Given the description of an element on the screen output the (x, y) to click on. 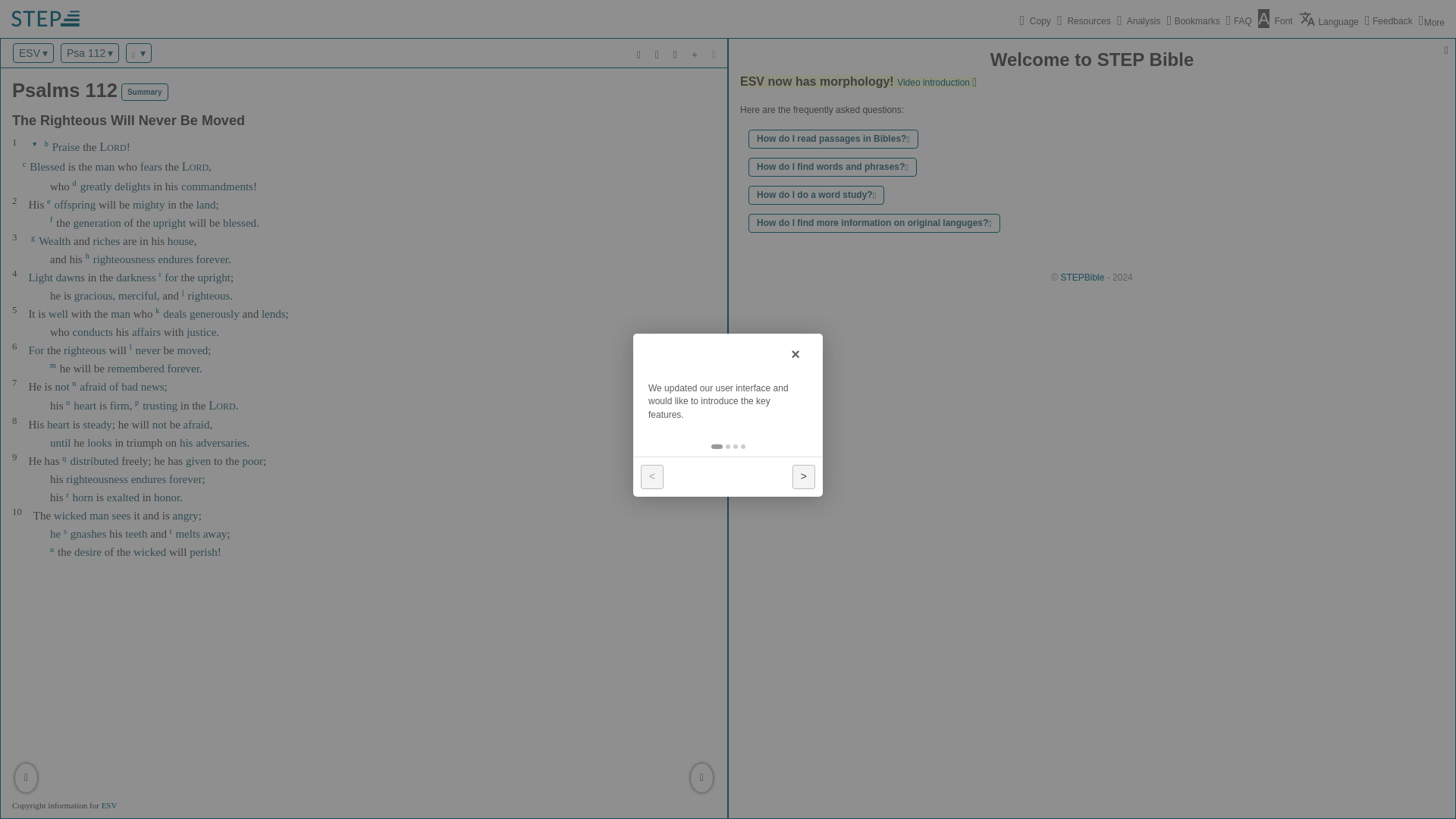
Reset to default configuration (45, 18)
Bookmarks and recent texts (1191, 20)
Language (1326, 18)
Font size (1272, 19)
A  Font (1272, 19)
  Analysis (1136, 20)
Copy (1033, 20)
Frequently asked questions (1237, 20)
Language (1326, 18)
Analysis (1136, 20)
 Bookmarks (1191, 20)
  Copy (1033, 20)
 FAQ (1237, 20)
  Resources (1081, 20)
Resources powered by STEPBible (1081, 20)
